Given the description of an element on the screen output the (x, y) to click on. 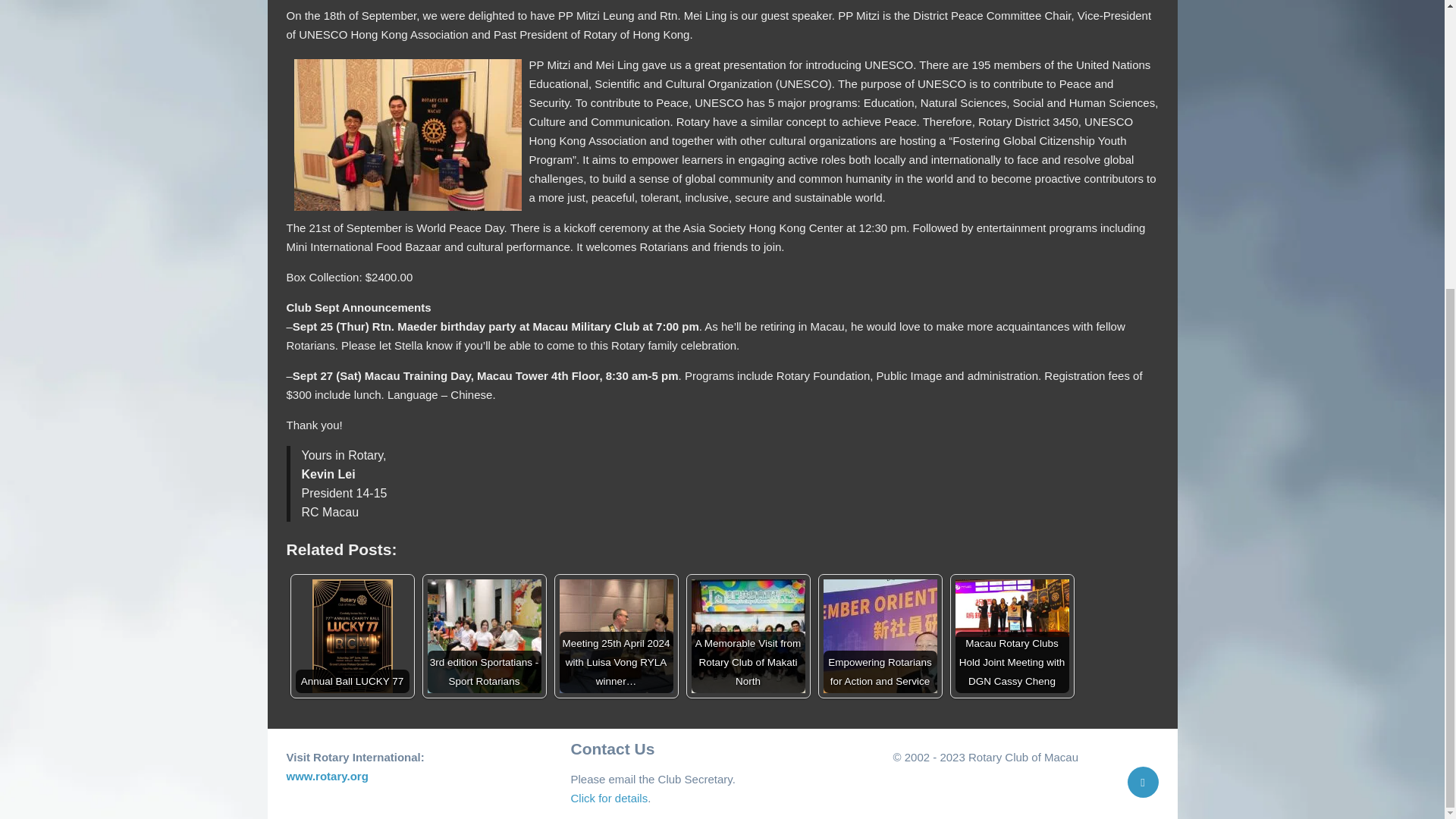
Macau Rotary Clubs Hold Joint Meeting with DGN Cassy Cheng (1011, 608)
A Memorable Visit from Rotary Club of Makati North (748, 635)
3rd edition Sportatians - Sport Rotarians (484, 635)
3rd edition Sportatians - Sport Rotarians (484, 635)
A Memorable Visit from Rotary Club of Makati North (748, 635)
Macau Rotary Clubs Hold Joint Meeting with DGN Cassy Cheng (1011, 635)
www.rotary.org (327, 775)
Annual Ball LUCKY 77 (352, 635)
Empowering Rotarians for Action and Service (880, 635)
